Given the description of an element on the screen output the (x, y) to click on. 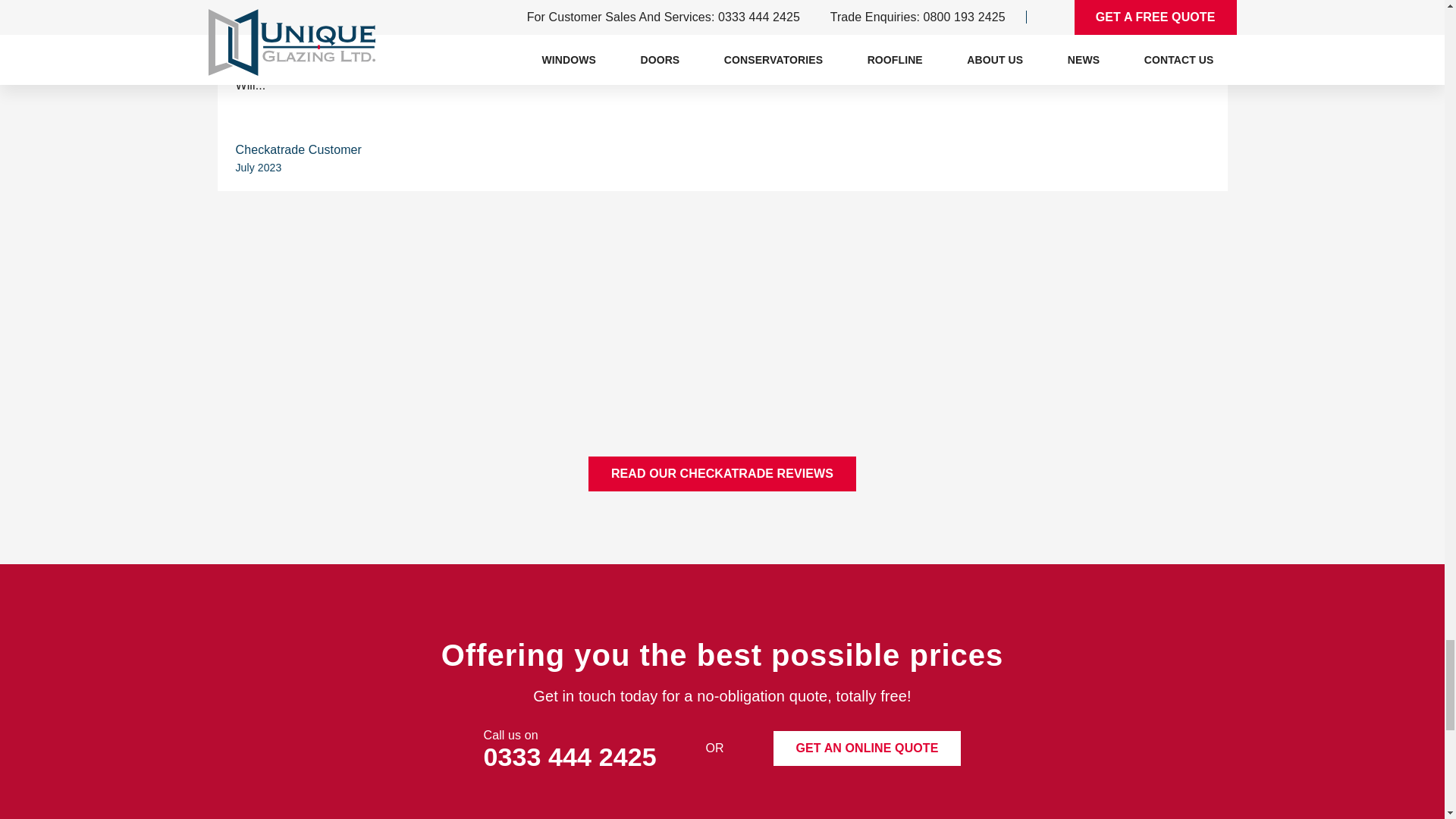
Read our Checkatrade reviews (722, 473)
